Given the description of an element on the screen output the (x, y) to click on. 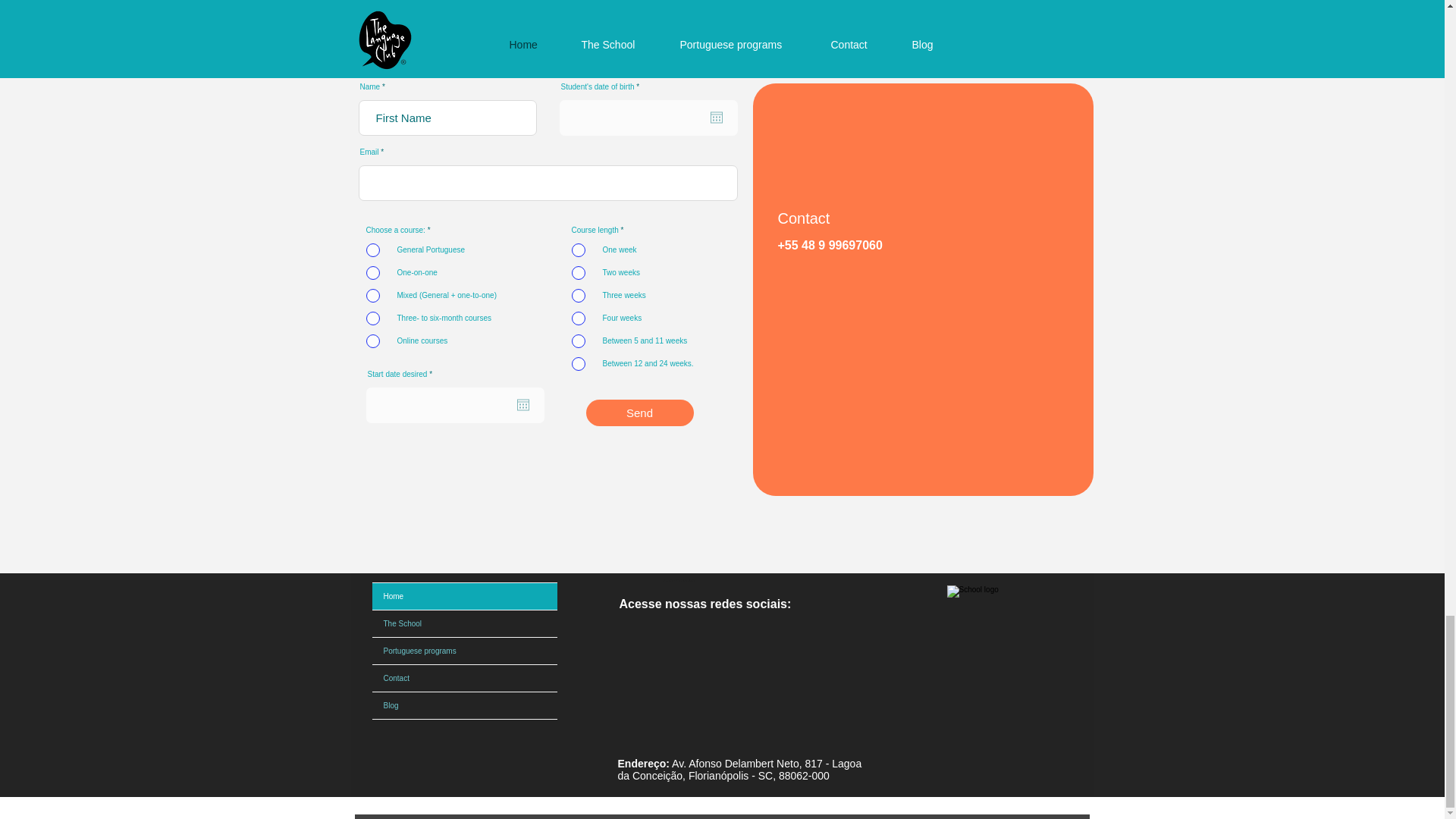
Send (639, 412)
The School (463, 623)
Blog (463, 705)
Contact (463, 678)
Home (463, 596)
Acesse nossas redes sociais: (704, 603)
